Given the description of an element on the screen output the (x, y) to click on. 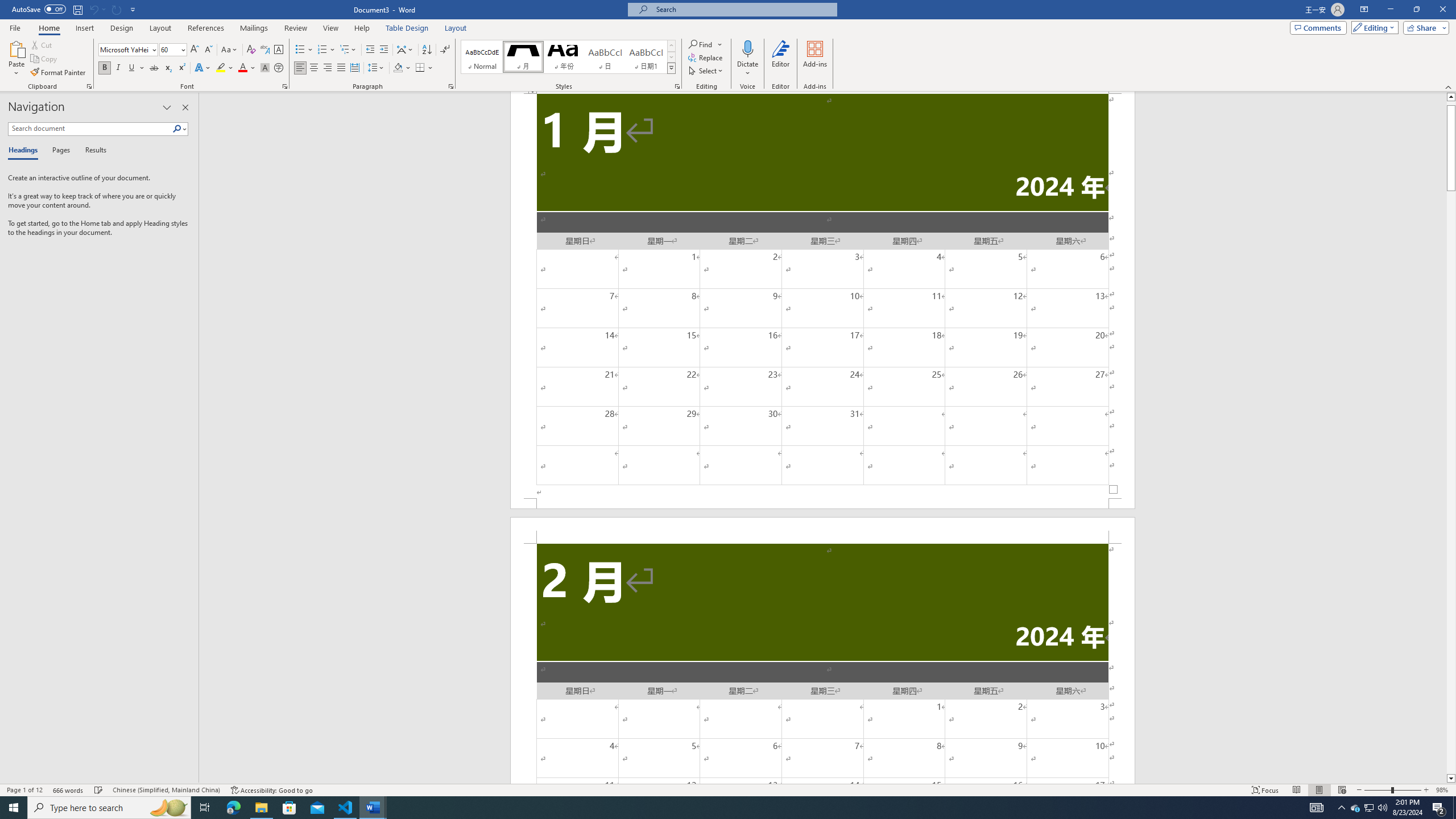
Line up (1450, 96)
